Given the description of an element on the screen output the (x, y) to click on. 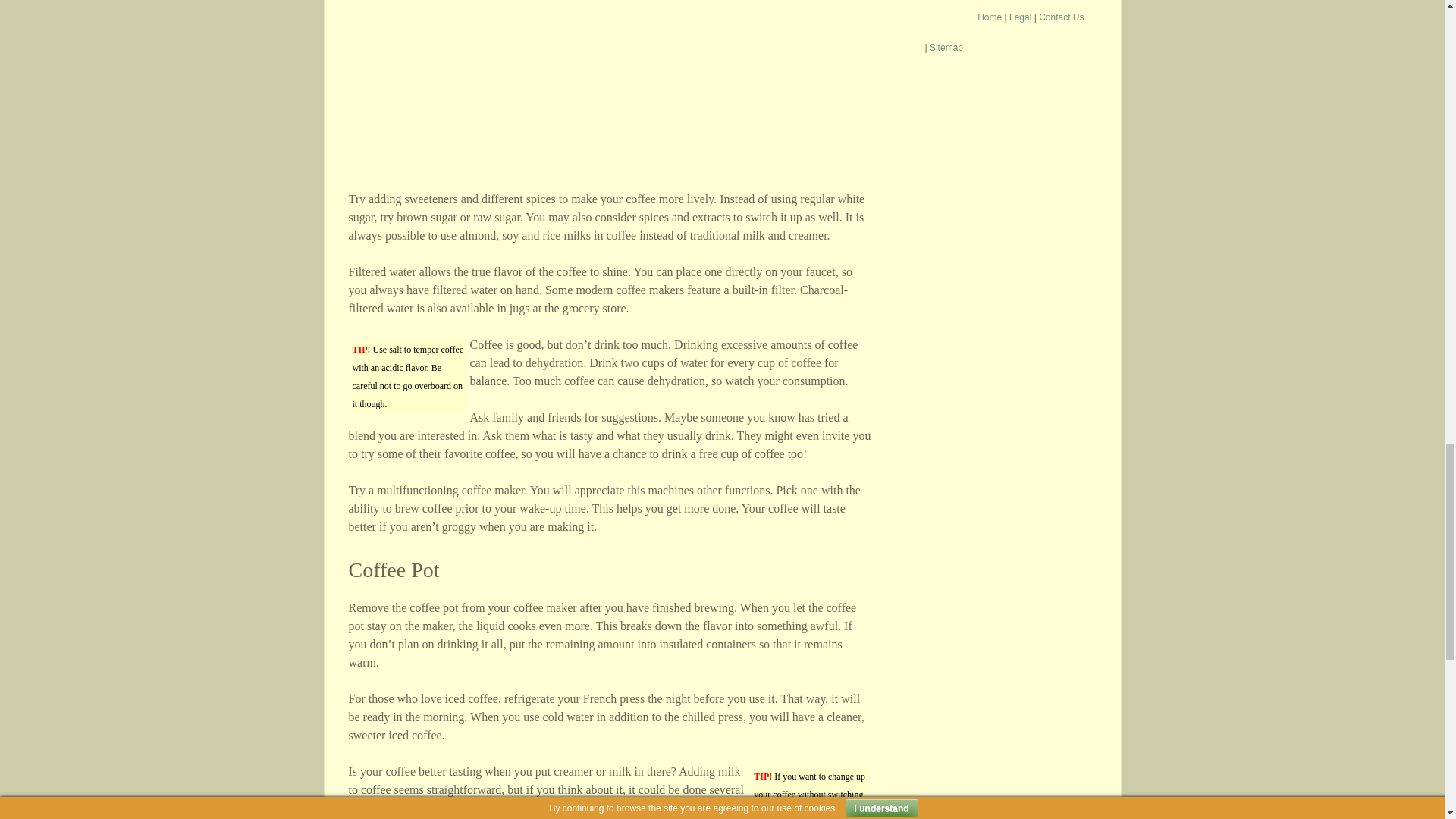
Contact Us (1061, 17)
Legal (1019, 17)
Home (988, 17)
Advertisement (610, 95)
Sitemap (946, 47)
